Given the description of an element on the screen output the (x, y) to click on. 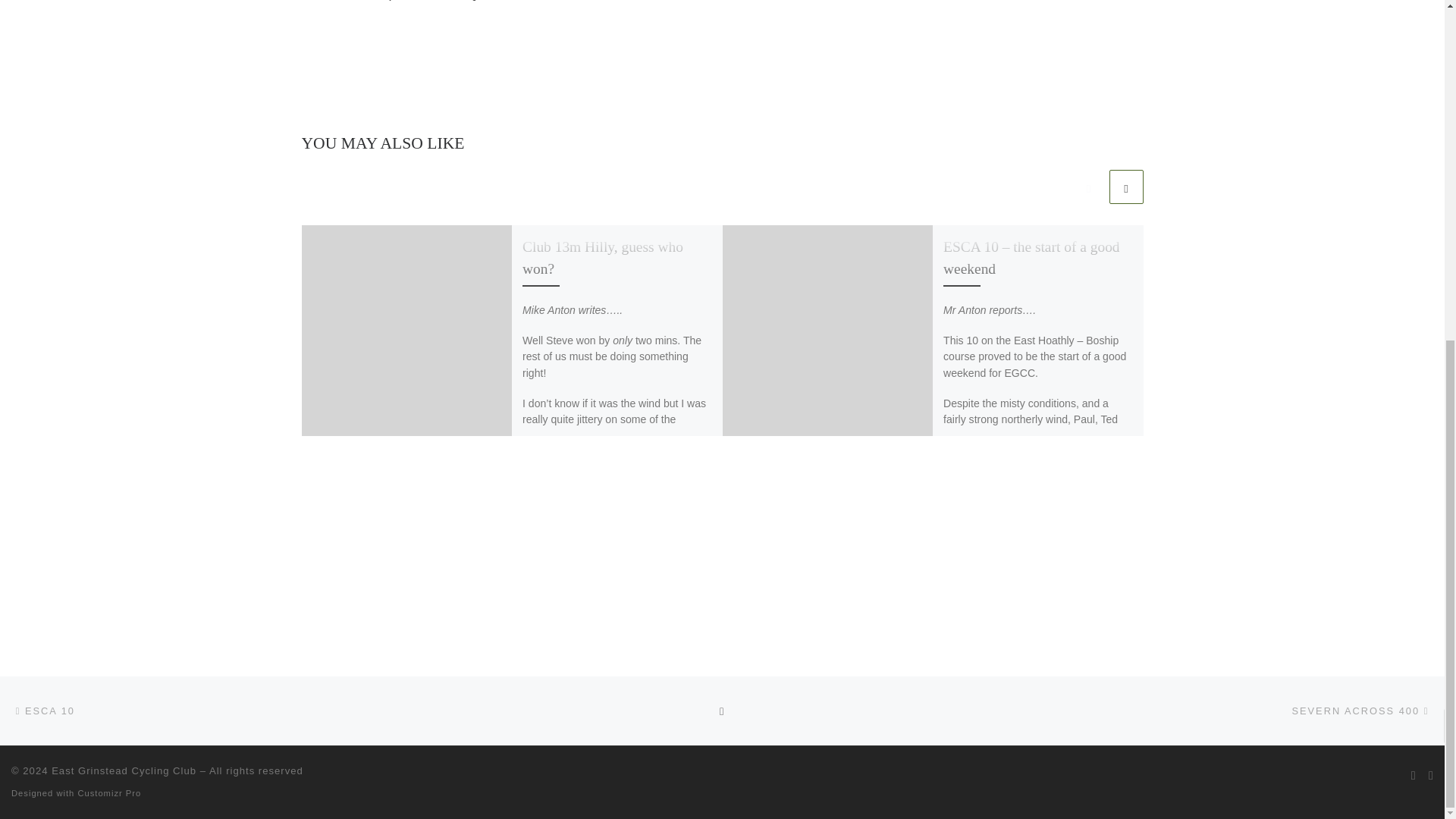
Customizr Pro (109, 792)
Previous related articles (1088, 186)
East Grinstead Cycling Club (123, 770)
Next related articles (1125, 186)
